Given the description of an element on the screen output the (x, y) to click on. 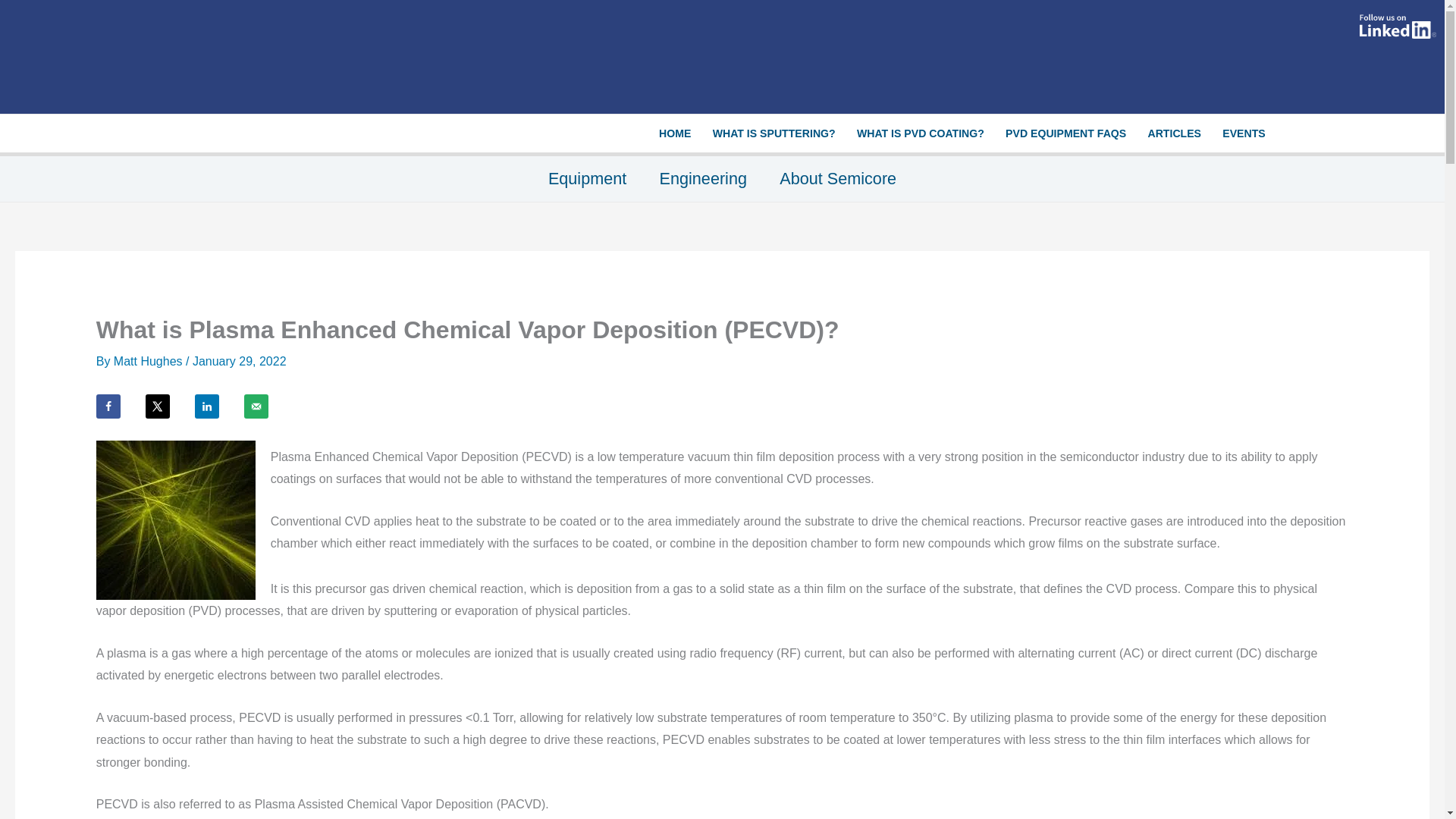
Follow Semicore on LinkedIn (1396, 26)
PVD EQUIPMENT FAQS (1065, 133)
View all posts by Matt Hughes (149, 360)
WHAT IS PVD COATING? (919, 133)
Send over email (255, 405)
Share on Facebook (108, 405)
HOME (674, 133)
Equipment (587, 178)
WHAT IS SPUTTERING? (773, 133)
EVENTS (1243, 133)
Share on X (157, 405)
Share on LinkedIn (207, 405)
ARTICLES (1174, 133)
Engineering (702, 178)
